Given the description of an element on the screen output the (x, y) to click on. 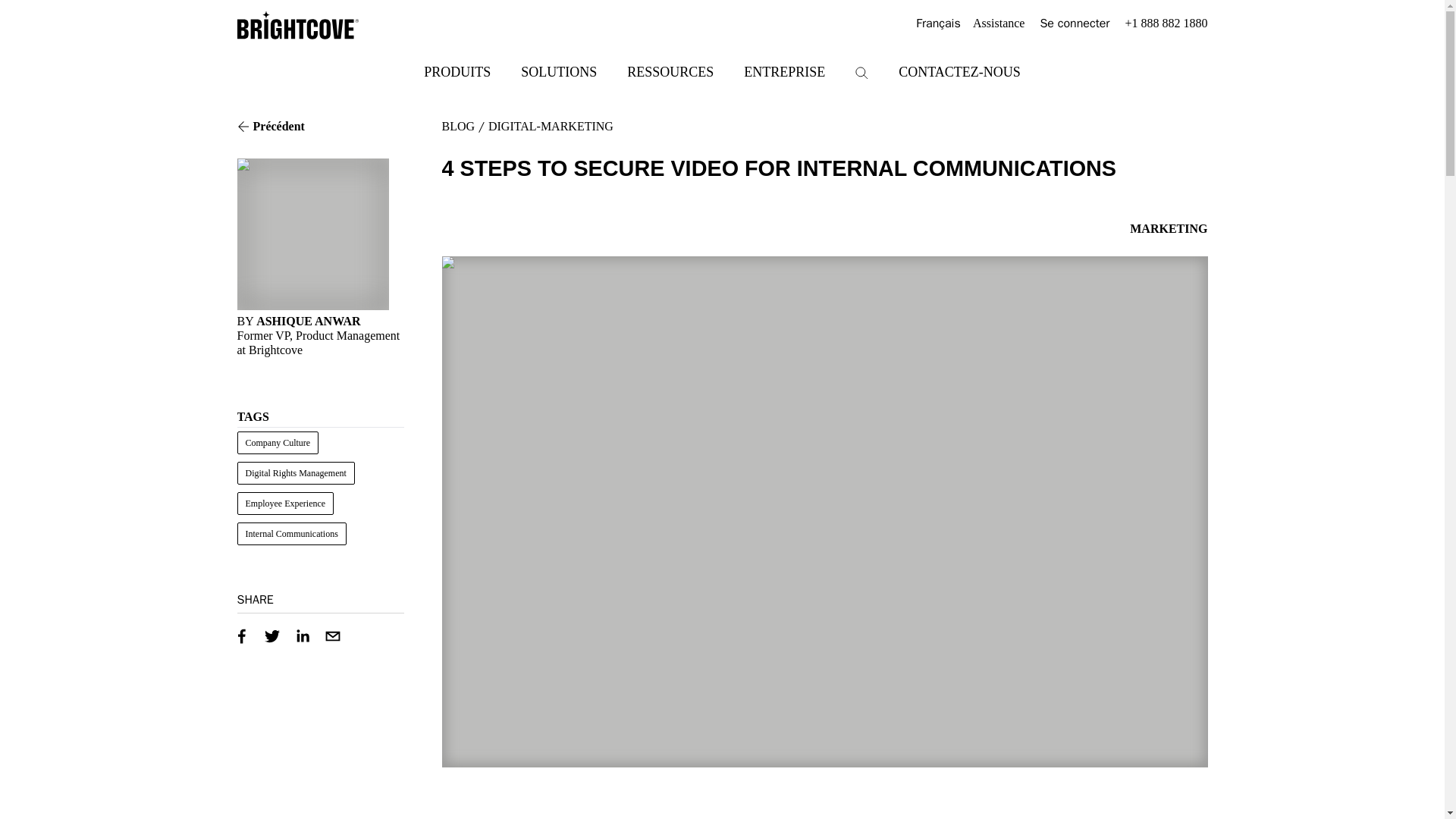
Statistics On Remote Workers That Will Surprise You (1059, 818)
One survey (1059, 818)
CONTACTEZ-NOUS (959, 71)
BLOG (457, 125)
Assistance (998, 23)
Digital Rights Management (294, 472)
Employee Experience (284, 503)
SEARCH ICONA MAGNIFYING GLASS ICON. (861, 72)
DIGITAL-MARKETING (549, 125)
Internal Communications (290, 533)
Company Culture (276, 442)
Se connecter (1074, 23)
